Given the description of an element on the screen output the (x, y) to click on. 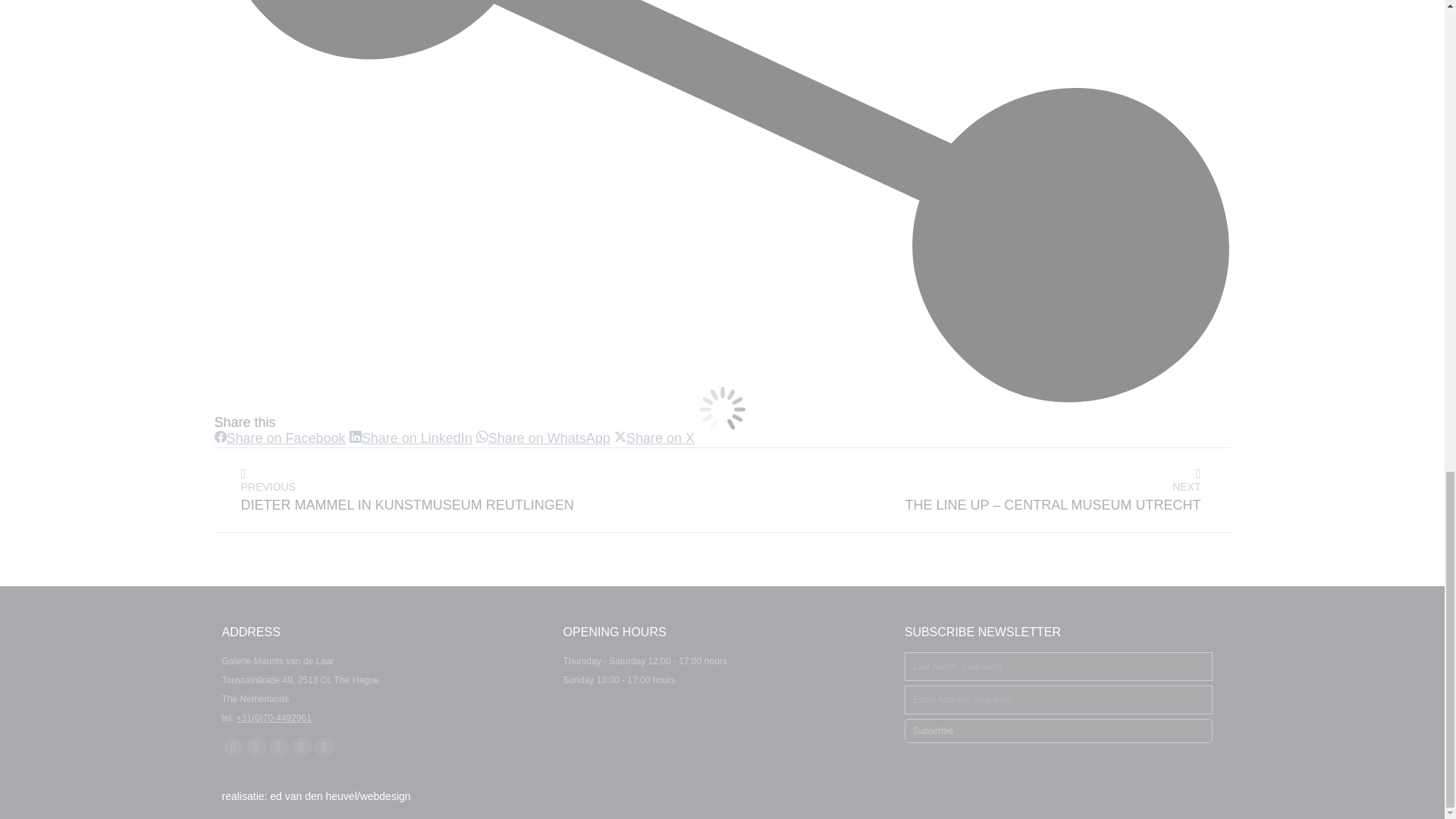
Linkedin page opens in new window (277, 746)
Mail page opens in new window (323, 746)
Facebook (279, 437)
Instagram page opens in new window (543, 437)
X page opens in new window (301, 746)
Subscribe (255, 746)
X (1058, 730)
